Given the description of an element on the screen output the (x, y) to click on. 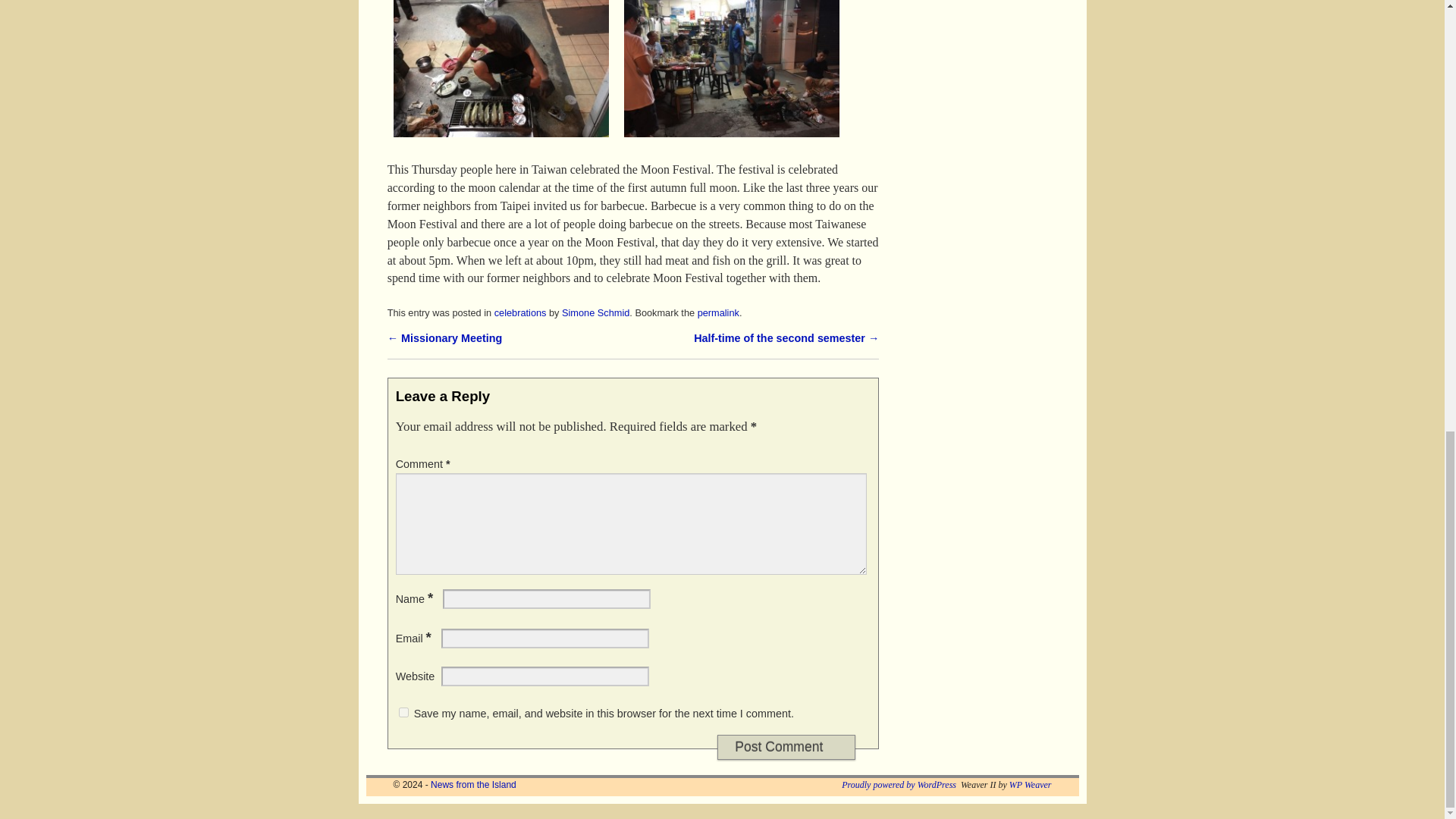
celebrations (521, 312)
Simone Schmid (595, 312)
Post Comment (786, 747)
Permalink to Moon Festival (718, 312)
wordpress.org (898, 784)
WP Weaver (1030, 784)
News from the Island (473, 784)
Post Comment (786, 747)
News from the Island (473, 784)
permalink (718, 312)
